Given the description of an element on the screen output the (x, y) to click on. 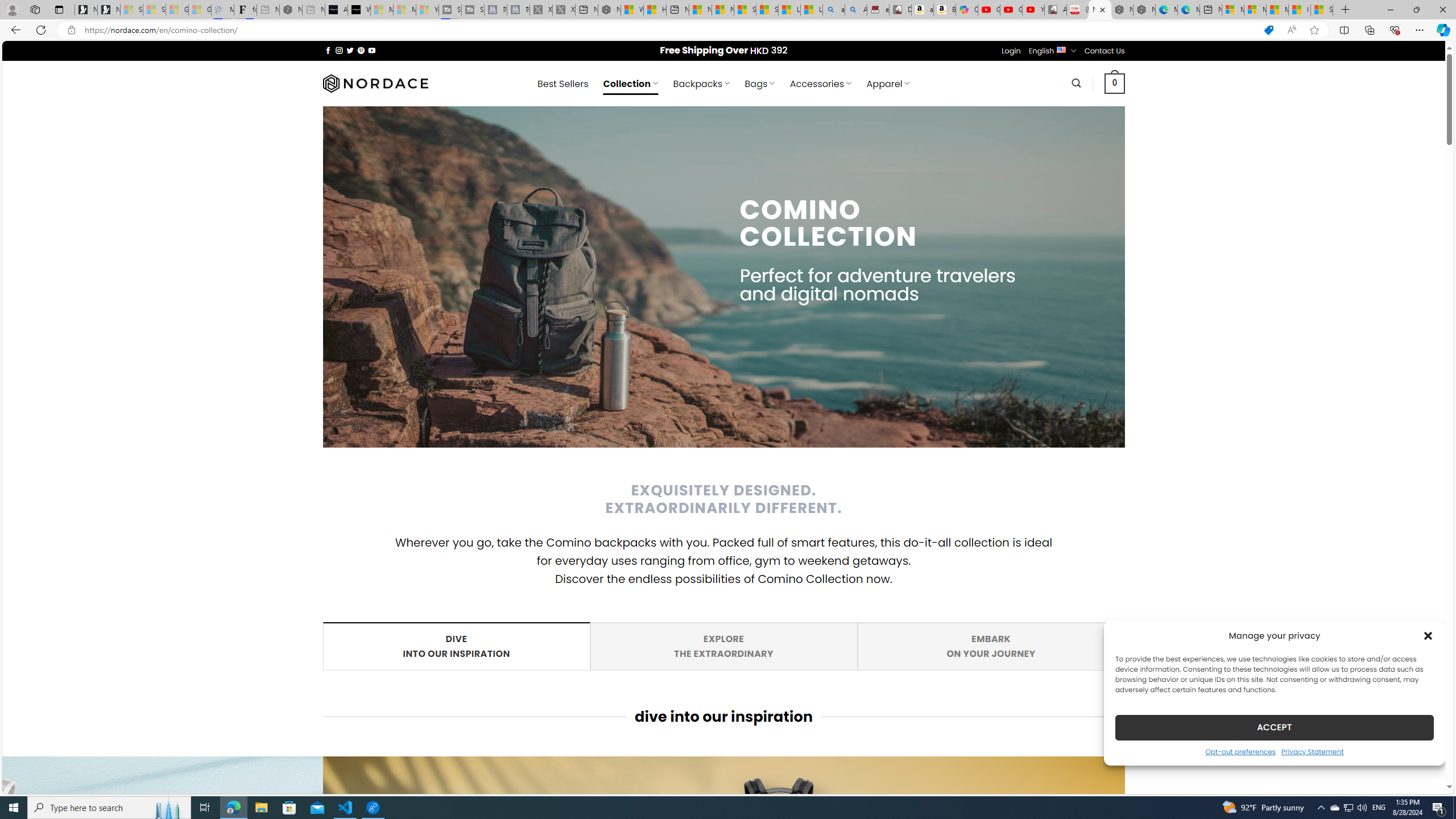
Contact Us (1104, 50)
EXPLORE THE EXTRAORDINARY (723, 645)
YouTube Kids - An App Created for Kids to Explore Content (1033, 9)
Microsoft account | Privacy (1255, 9)
AI Voice Changer for PC and Mac - Voice.ai (336, 9)
Wildlife - MSN (631, 9)
  Best Sellers (562, 83)
